Given the description of an element on the screen output the (x, y) to click on. 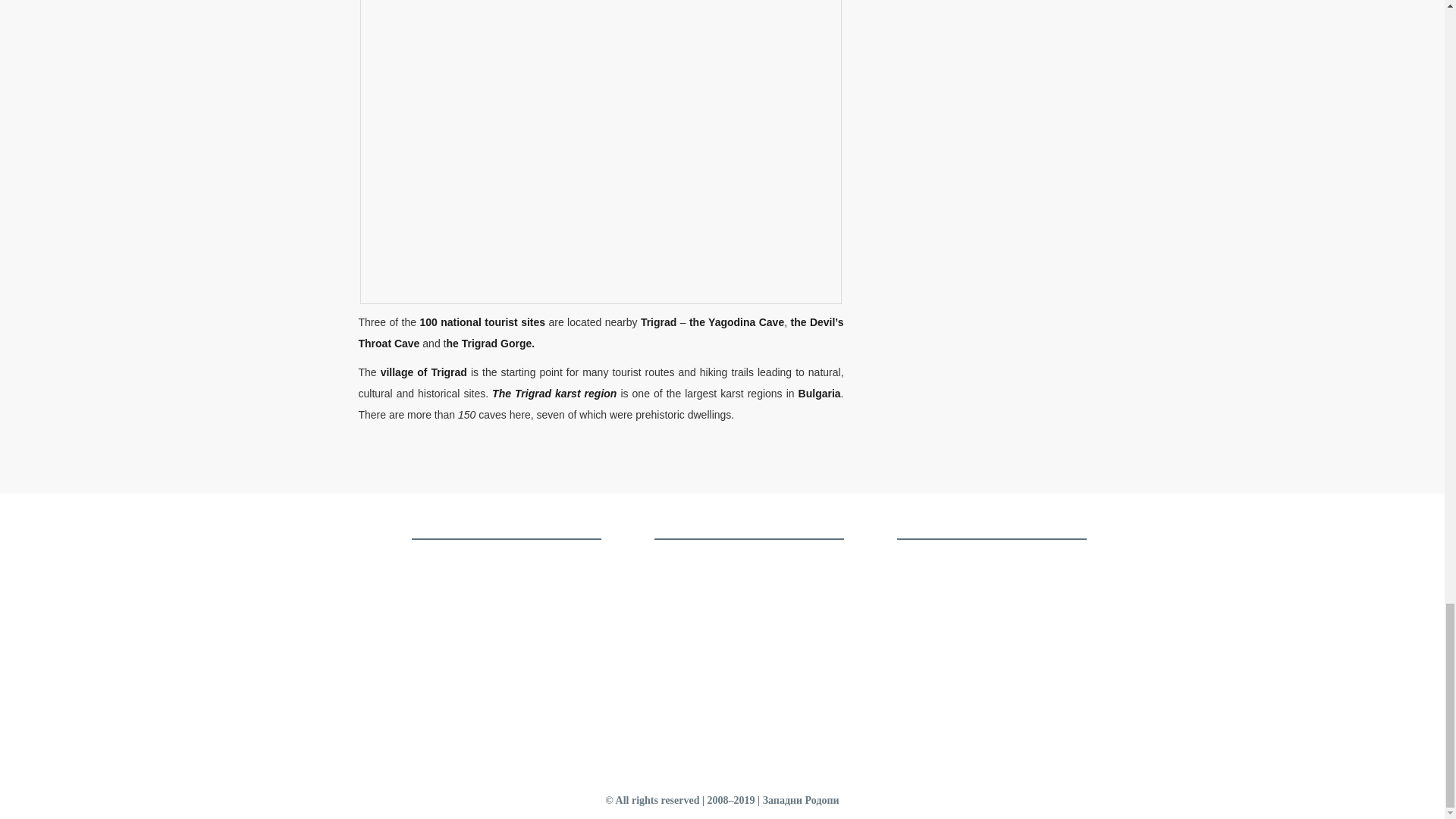
peika.bg (428, 664)
Devin Municipality (694, 605)
Bulgarian Association for Rural and Ecological Tourism (696, 650)
Official site of Borino Municipality (697, 583)
Official site of Dospat Municipality (697, 627)
TOURISM (434, 577)
UPCOMING EVENTS (460, 559)
GALLERIES (439, 594)
Dospat Municipality (697, 627)
Bratsigovo Municipality (705, 562)
